Given the description of an element on the screen output the (x, y) to click on. 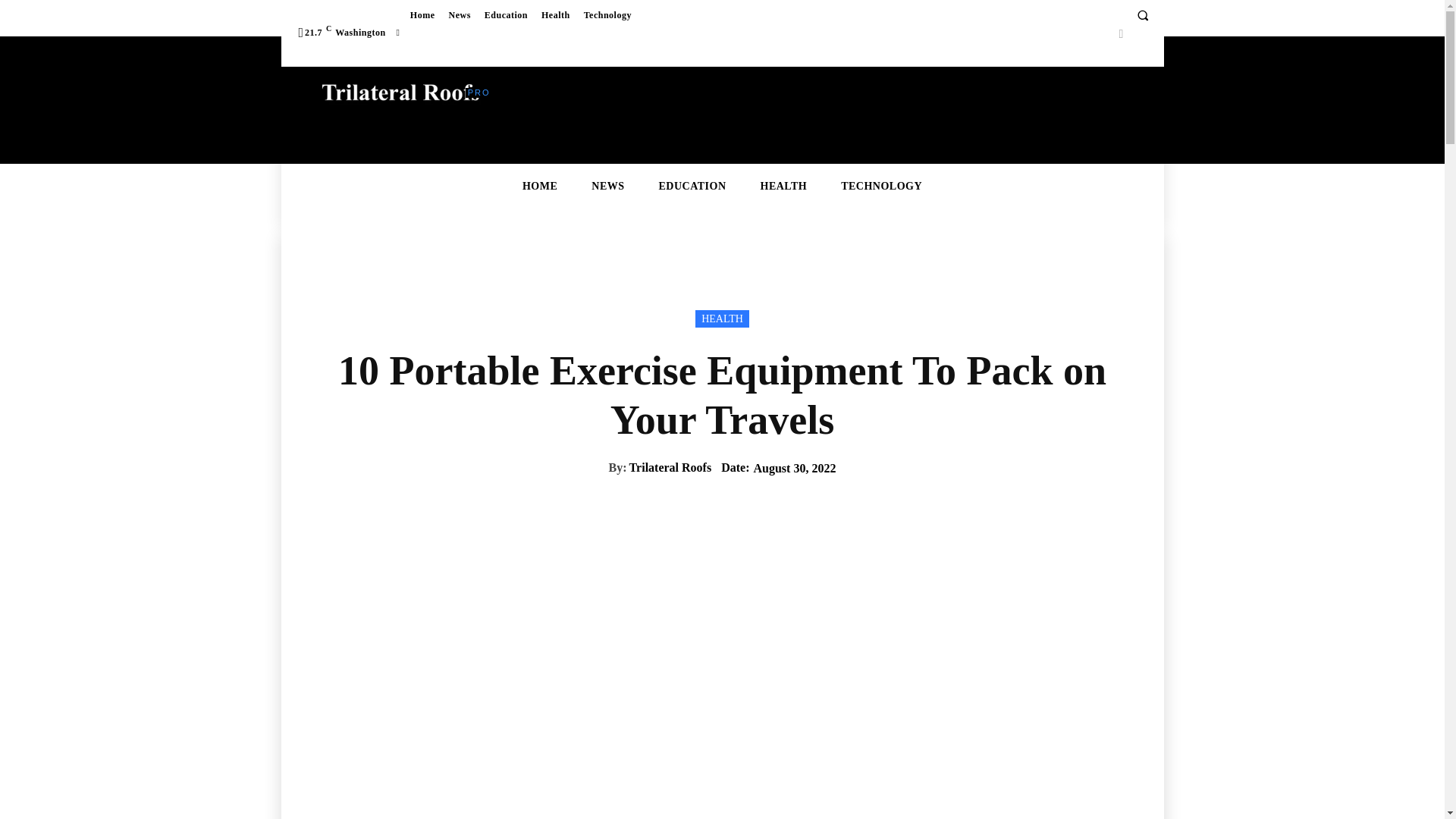
Technology (607, 15)
HEALTH (783, 186)
NEWS (606, 186)
Home (422, 15)
TECHNOLOGY (881, 186)
Trilateral Roofs (669, 467)
HOME (540, 186)
Education (505, 15)
Health (555, 15)
News (459, 15)
EDUCATION (692, 186)
HEALTH (722, 318)
